Given the description of an element on the screen output the (x, y) to click on. 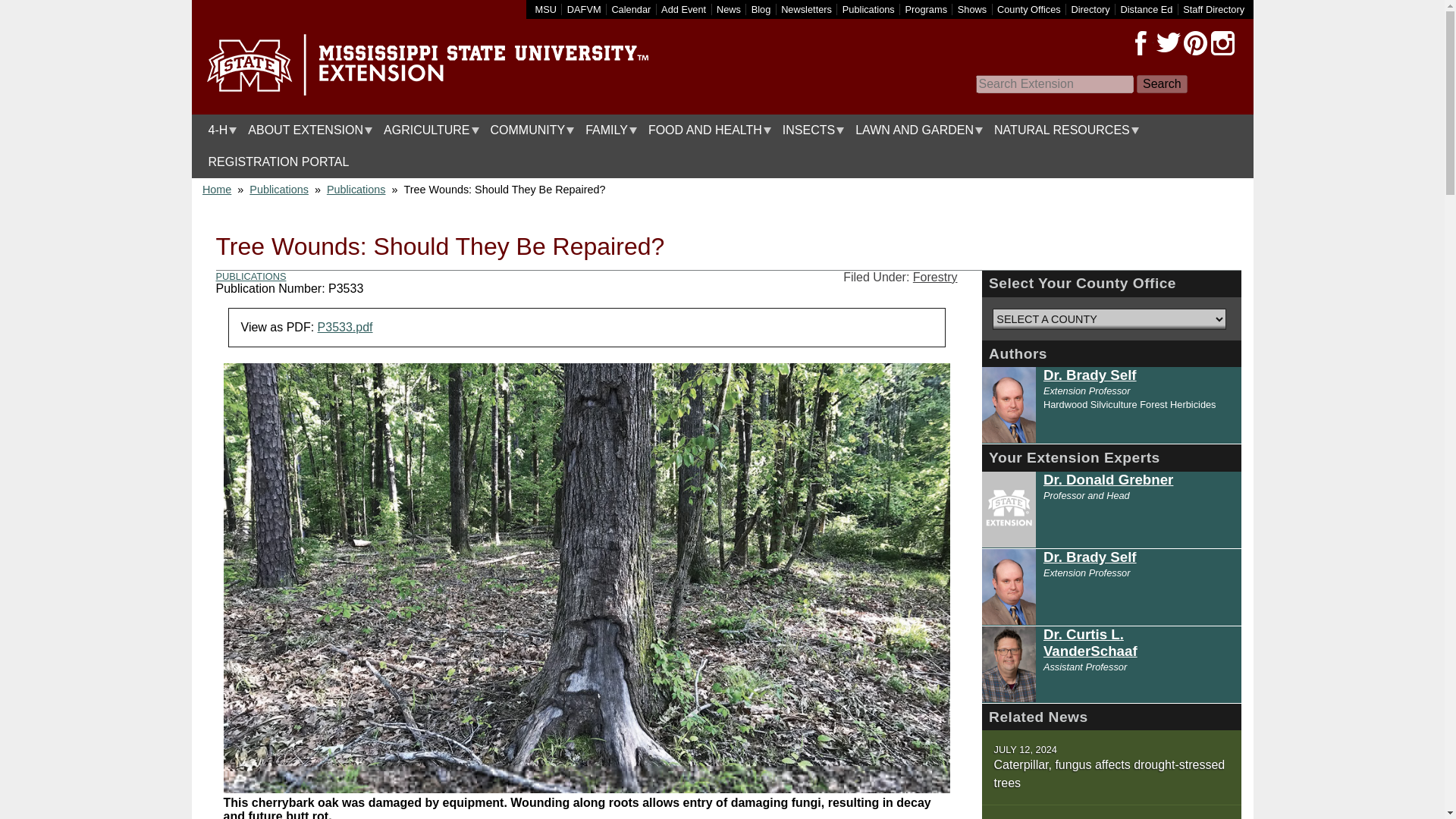
DAFVM (584, 9)
Staff Directory (1213, 9)
County Offices (1029, 9)
Facebook (1140, 43)
Directory (1089, 9)
Blog (761, 9)
Add Event (683, 9)
Shows (972, 9)
4-H (218, 130)
Programs (926, 9)
